Given the description of an element on the screen output the (x, y) to click on. 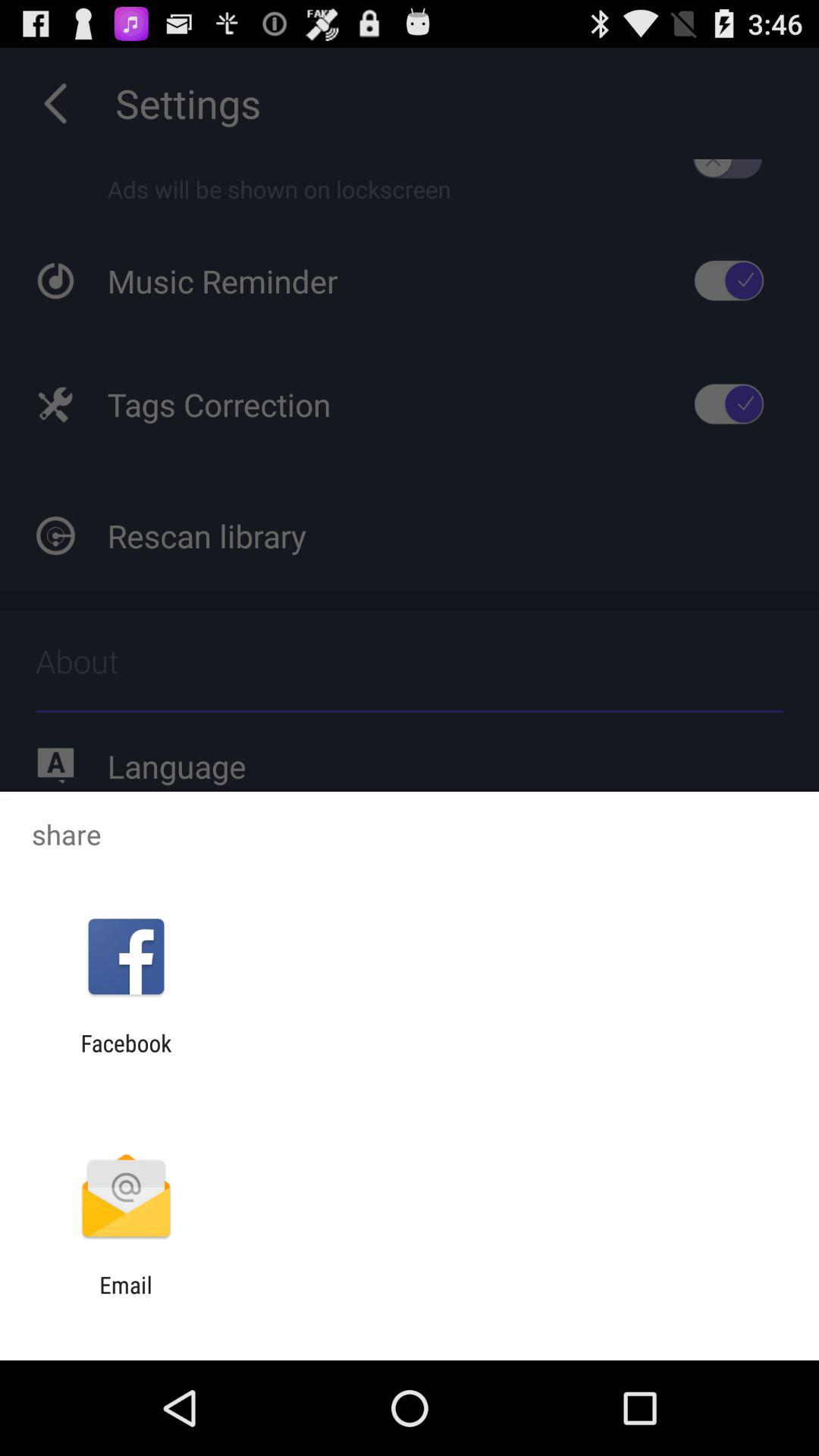
launch the facebook (125, 1056)
